Given the description of an element on the screen output the (x, y) to click on. 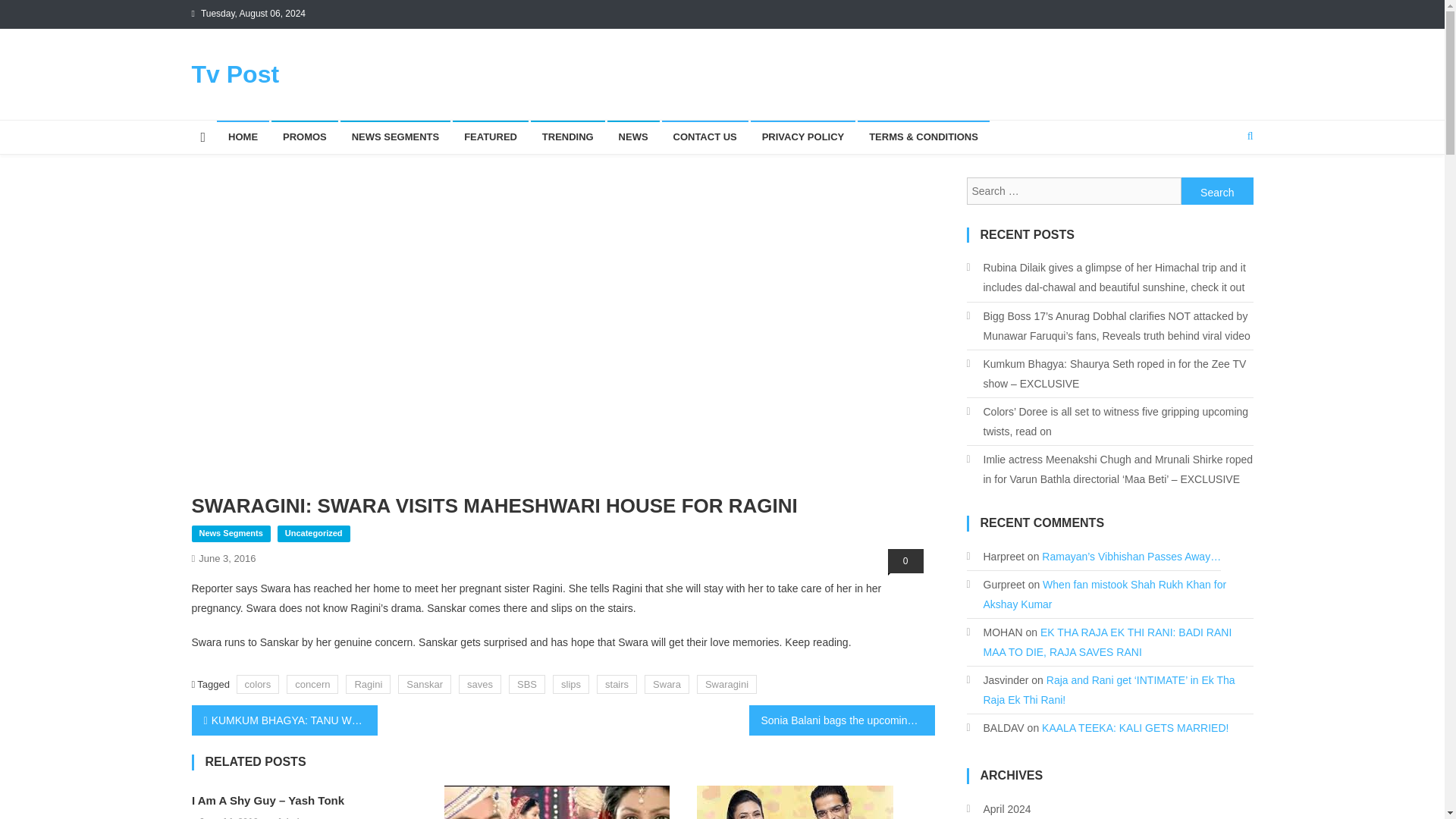
Sonia Balani bags the upcoming movie Tum Bin 2! (841, 720)
Uncategorized (314, 533)
TRENDING (568, 136)
June 14, 2016 (227, 816)
Swara (666, 683)
slips (571, 683)
PROMOS (303, 136)
concern (311, 683)
NEWS (633, 136)
saves (479, 683)
